Given the description of an element on the screen output the (x, y) to click on. 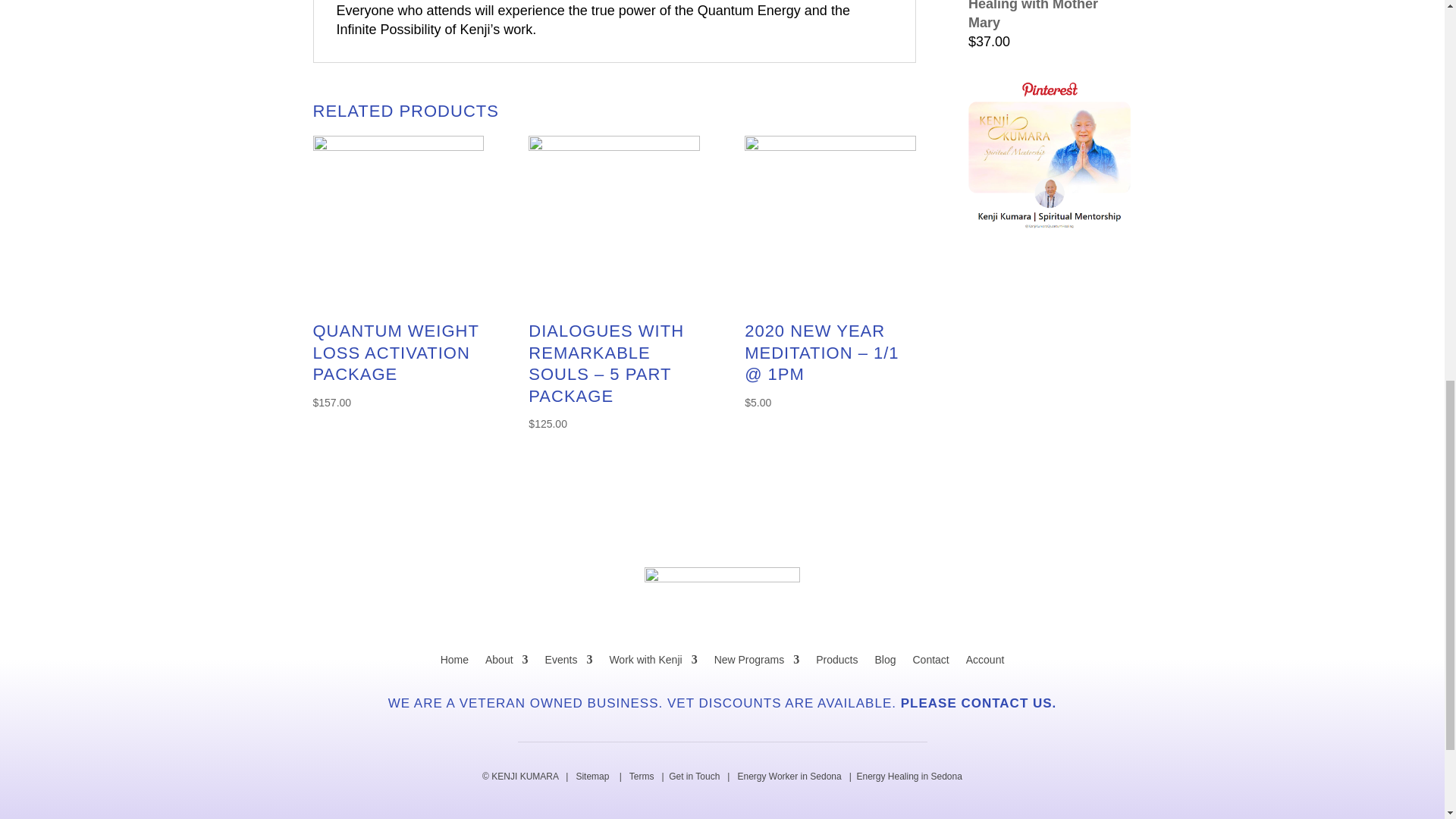
Energy Worker in Sedona (788, 776)
kenji-kumara-newlogo2 (722, 596)
Terms (640, 776)
Get in touch (693, 776)
Energy Healing in Sedona (908, 776)
